Given the description of an element on the screen output the (x, y) to click on. 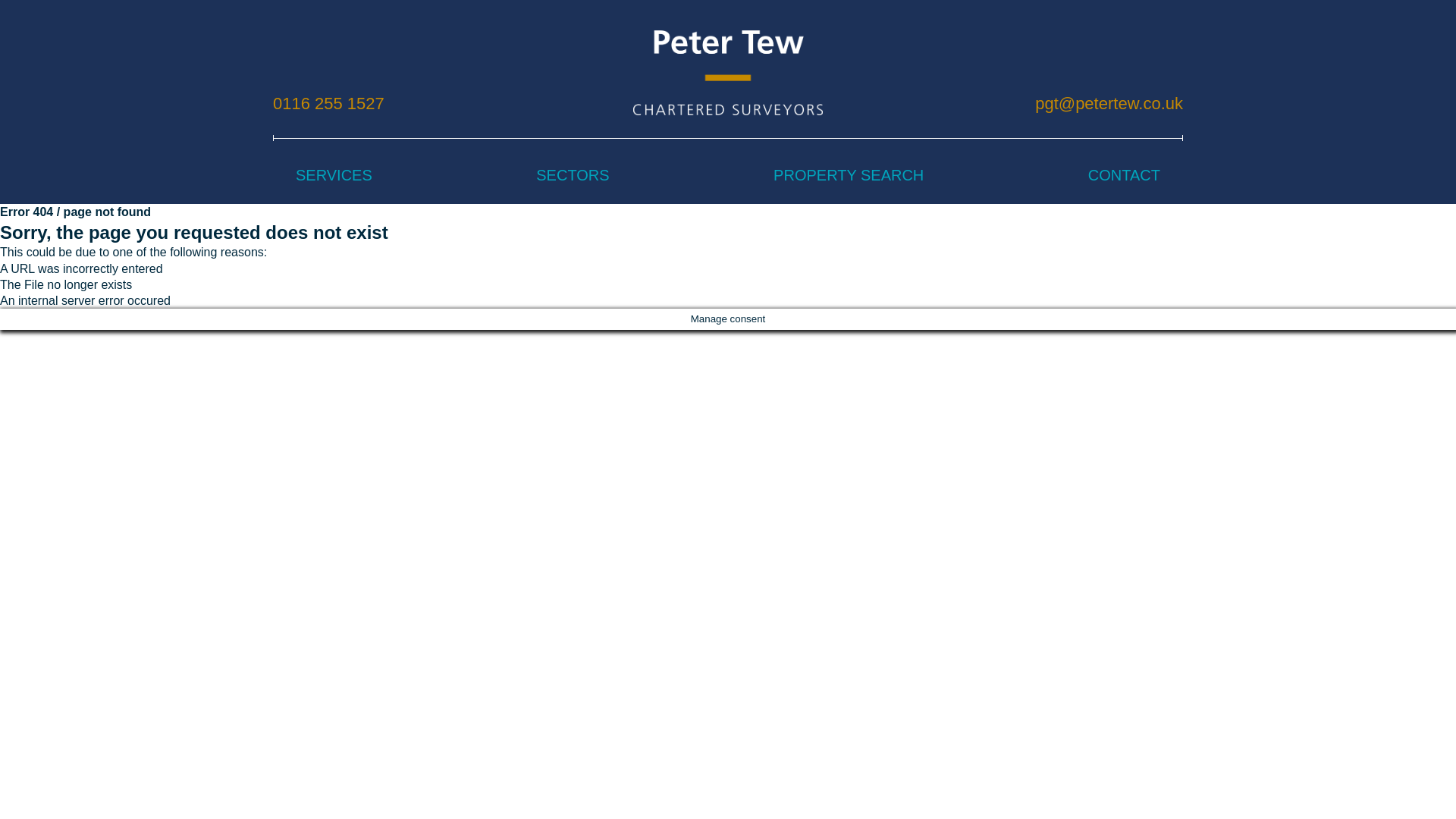
SECTORS (571, 175)
SERVICES (333, 175)
Back to the homepage (727, 72)
CONTACT (1123, 175)
PROPERTY SEARCH (848, 175)
0116 255 1527 (328, 103)
